Given the description of an element on the screen output the (x, y) to click on. 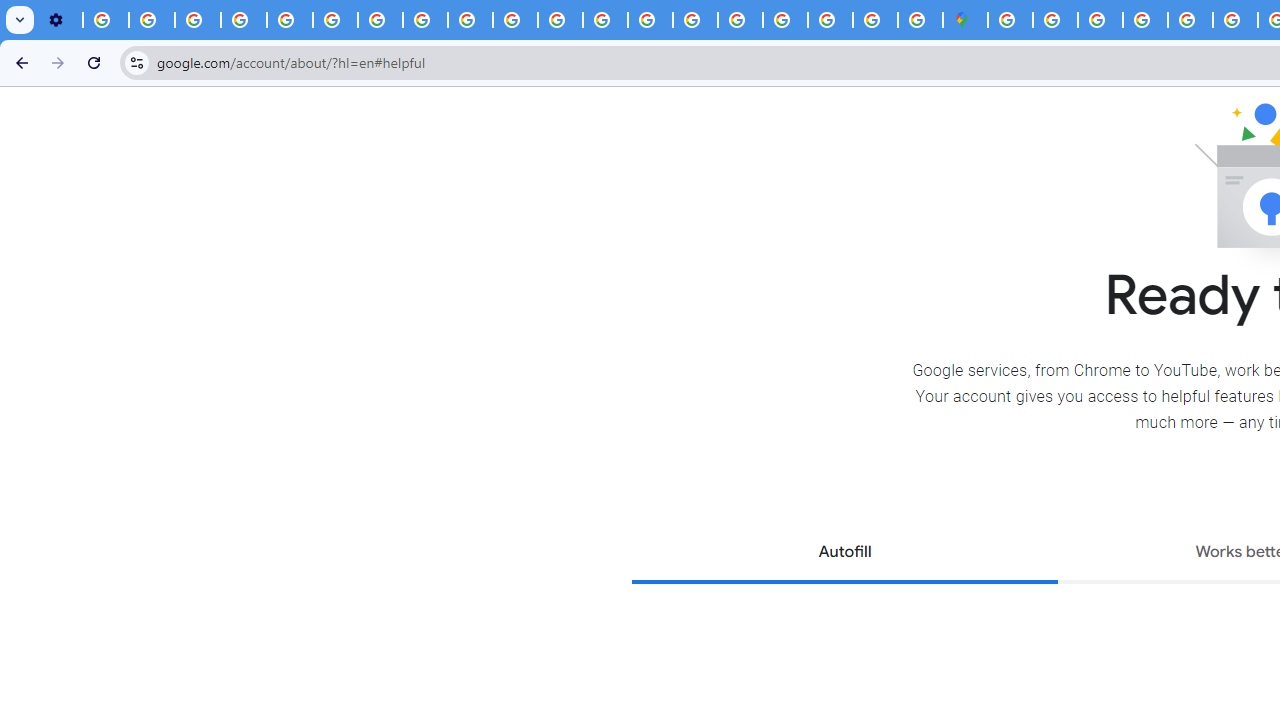
Learn how to find your photos - Google Photos Help (152, 20)
Privacy Checkup (514, 20)
Sign in - Google Accounts (784, 20)
Autofill (844, 553)
Terms and Conditions (1190, 20)
